Given the description of an element on the screen output the (x, y) to click on. 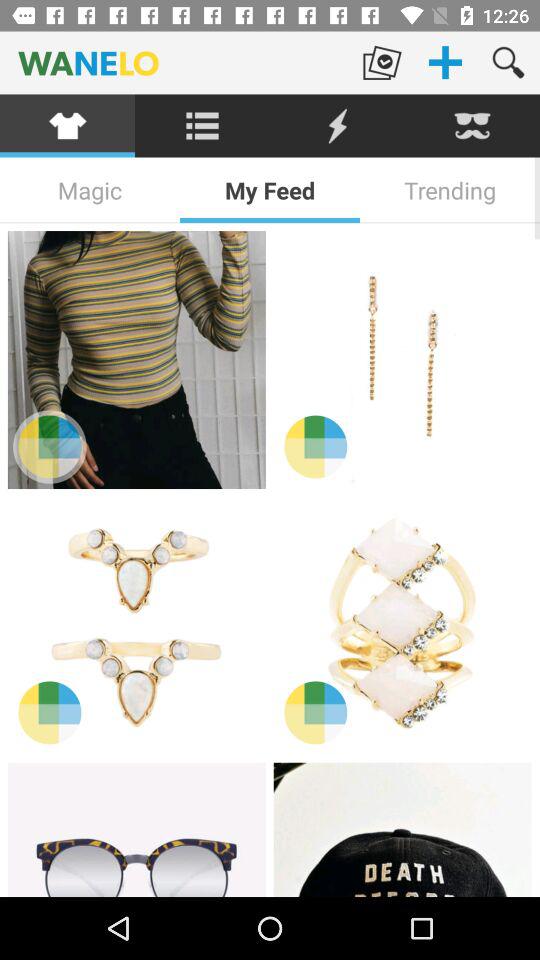
face options (472, 125)
